Given the description of an element on the screen output the (x, y) to click on. 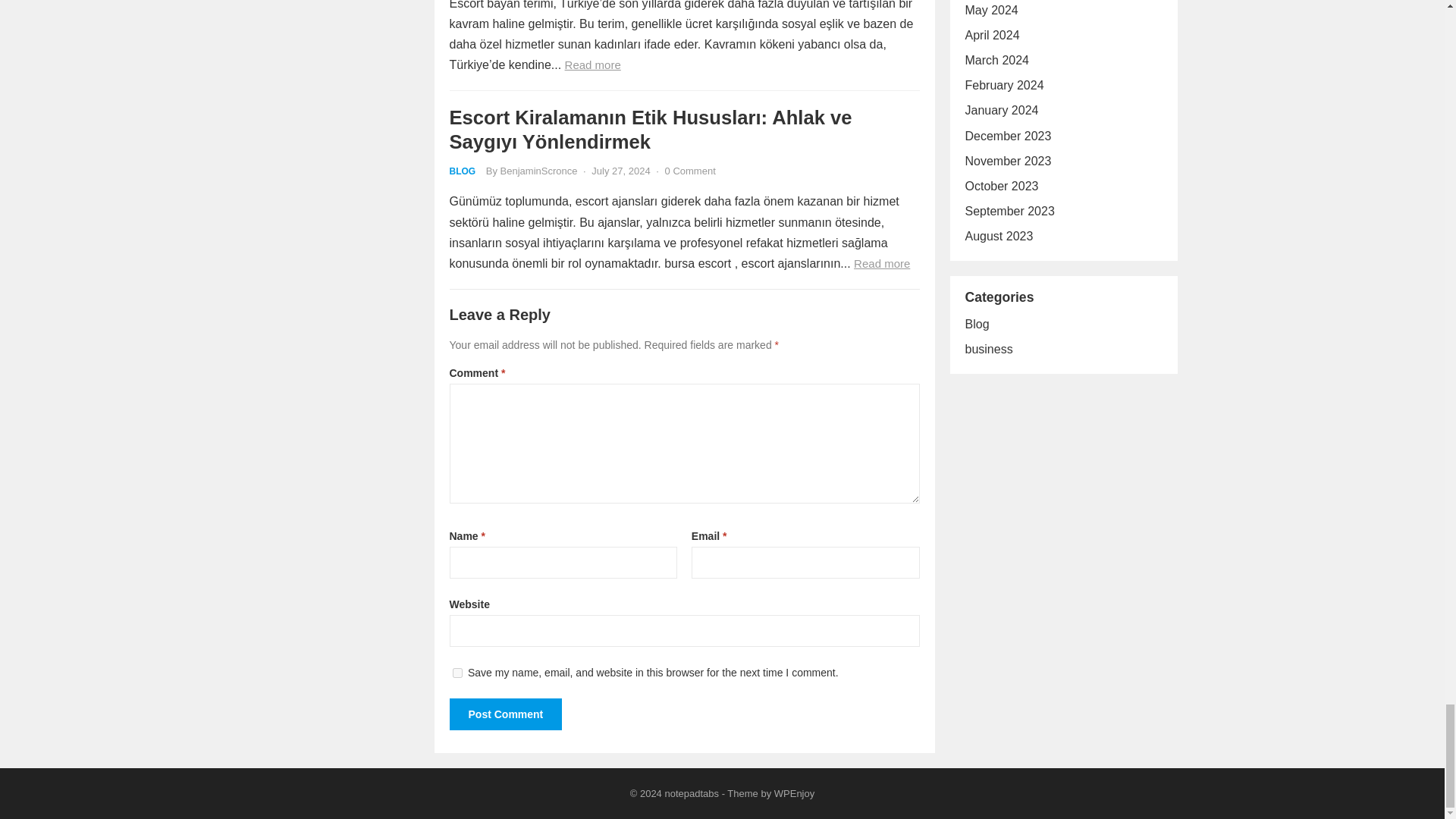
Post Comment (505, 714)
Posts by BenjaminScronce (539, 170)
yes (456, 673)
